Given the description of an element on the screen output the (x, y) to click on. 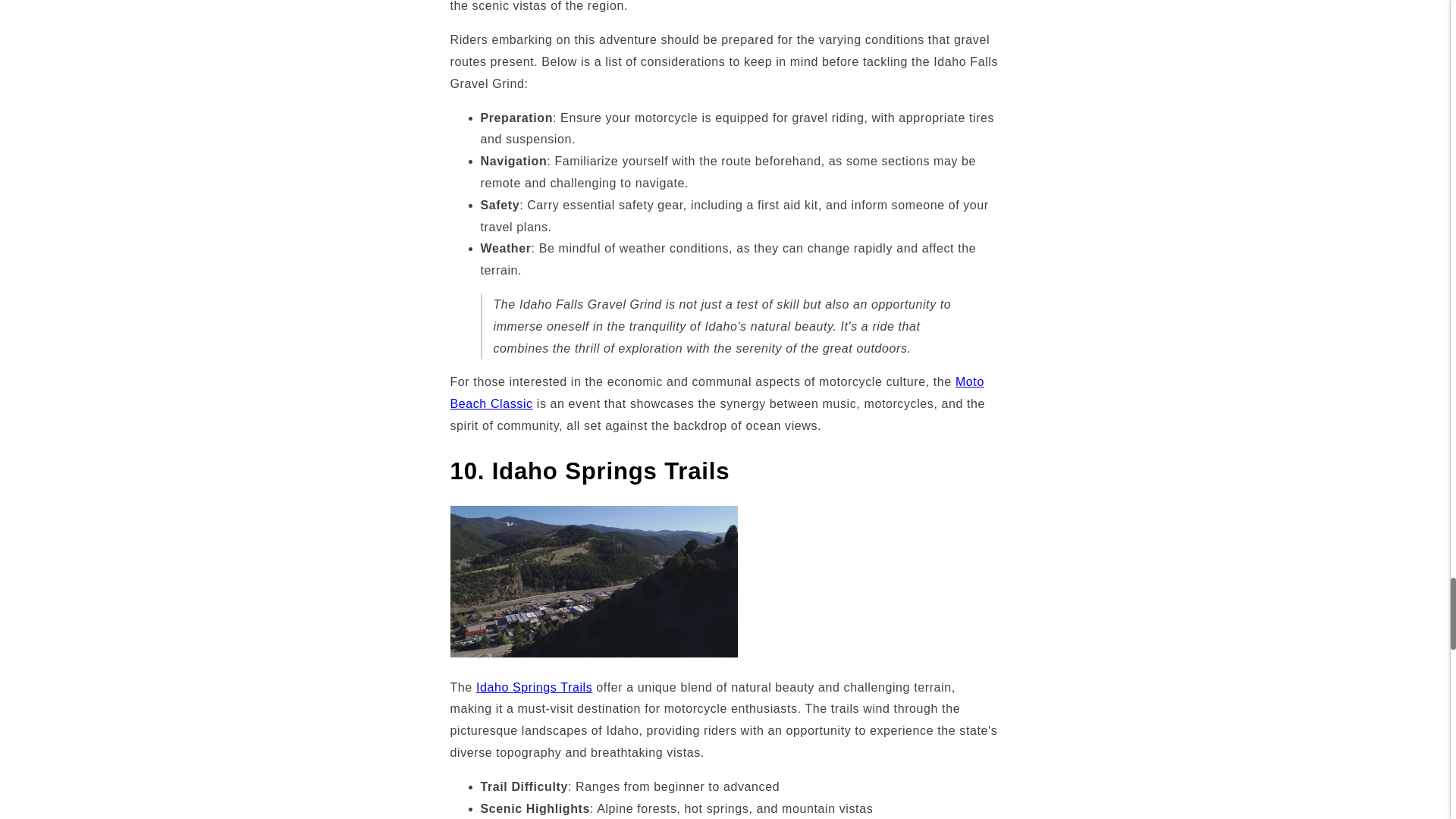
Experience the Winx Wheels difference. (716, 392)
Experience the Winx Wheels difference. (534, 686)
